Given the description of an element on the screen output the (x, y) to click on. 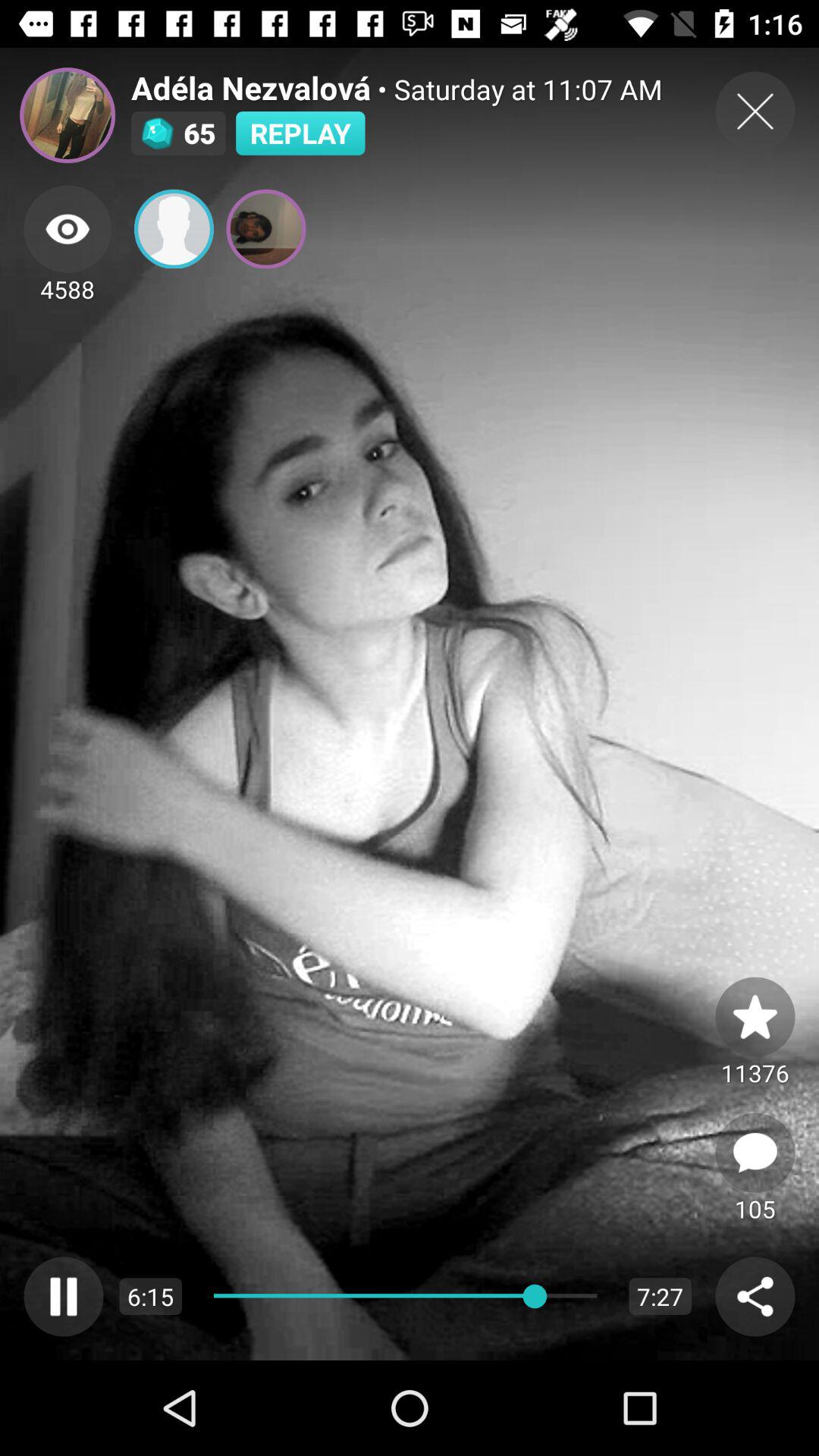
pause music (63, 1296)
